Given the description of an element on the screen output the (x, y) to click on. 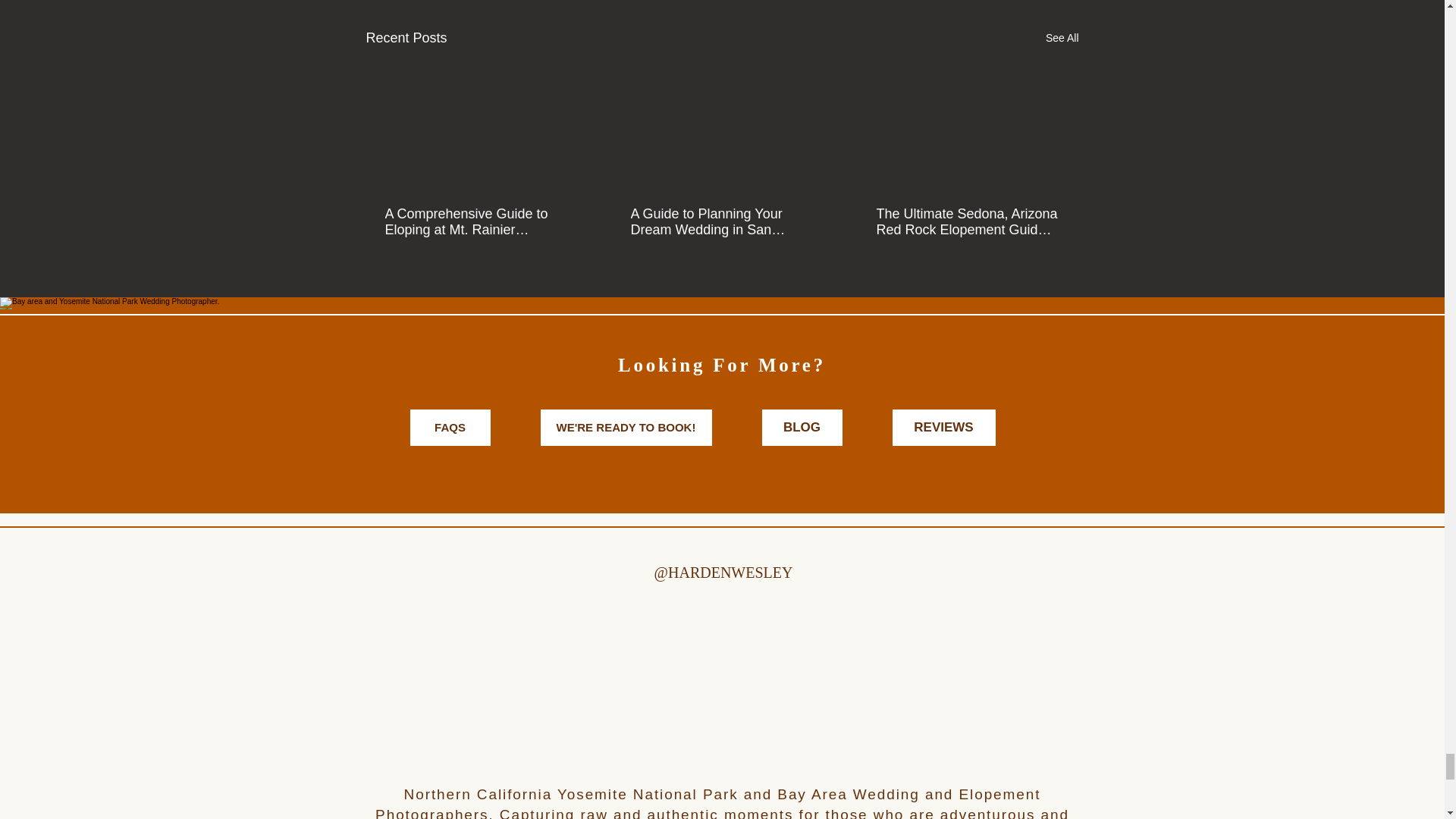
FAQS (449, 427)
See All (1061, 38)
BLOG (801, 427)
WE'RE READY TO BOOK! (625, 427)
REVIEWS (942, 427)
